Given the description of an element on the screen output the (x, y) to click on. 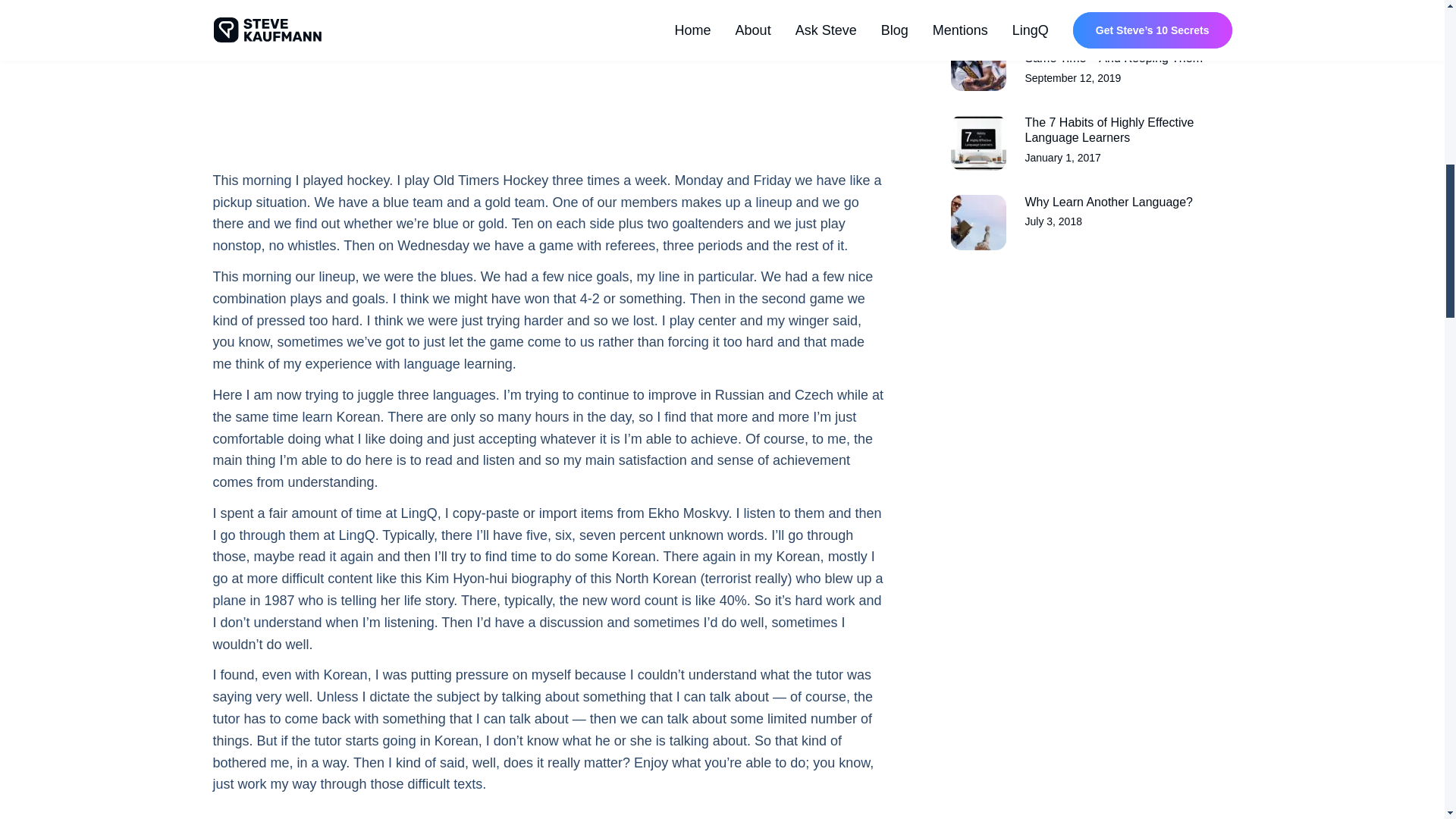
Language Learning Strategy: Let the Language Come to You (1090, 222)
